Given the description of an element on the screen output the (x, y) to click on. 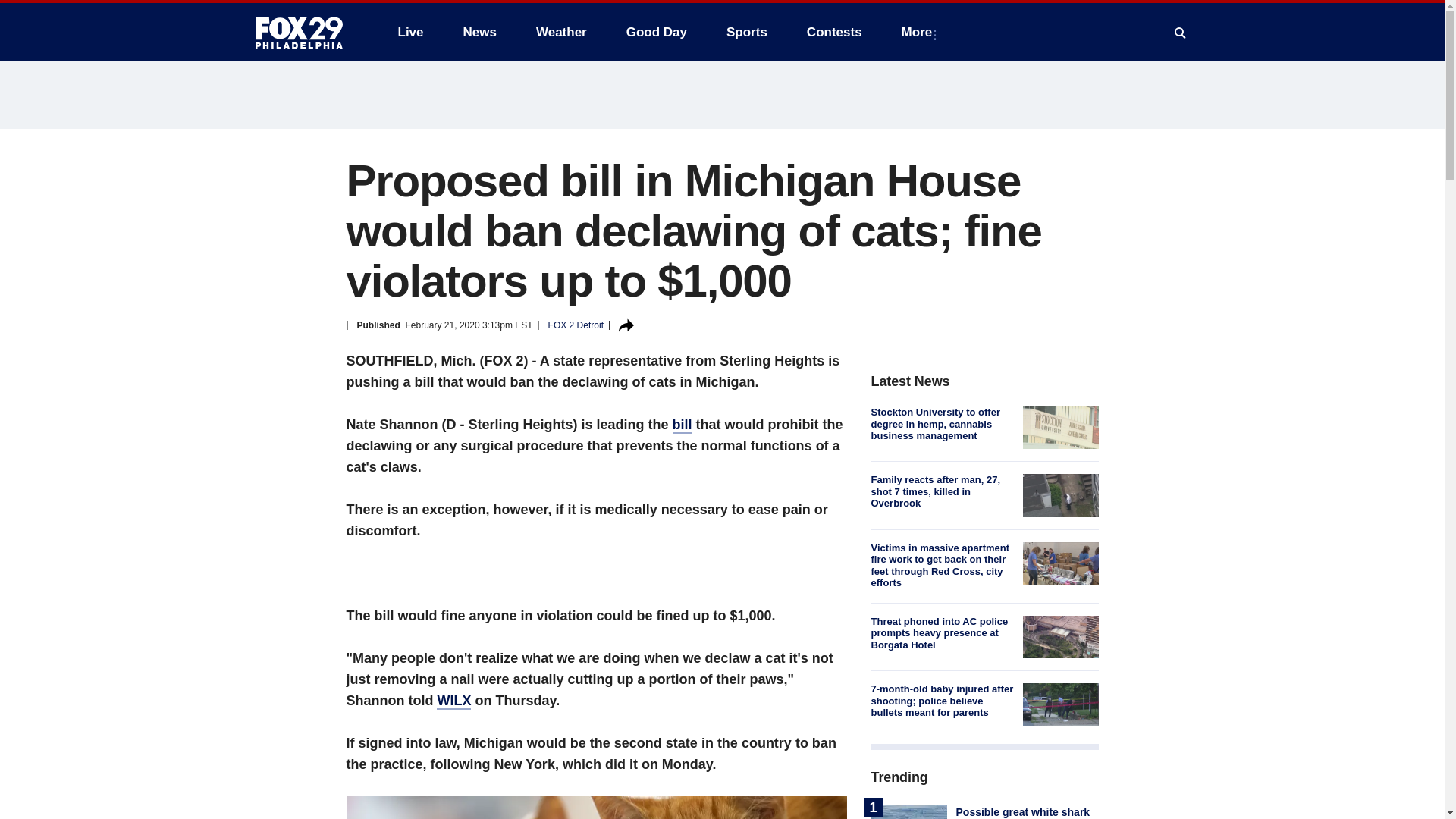
More (919, 32)
Live (410, 32)
News (479, 32)
Contests (834, 32)
Good Day (656, 32)
Weather (561, 32)
Sports (746, 32)
